Given the description of an element on the screen output the (x, y) to click on. 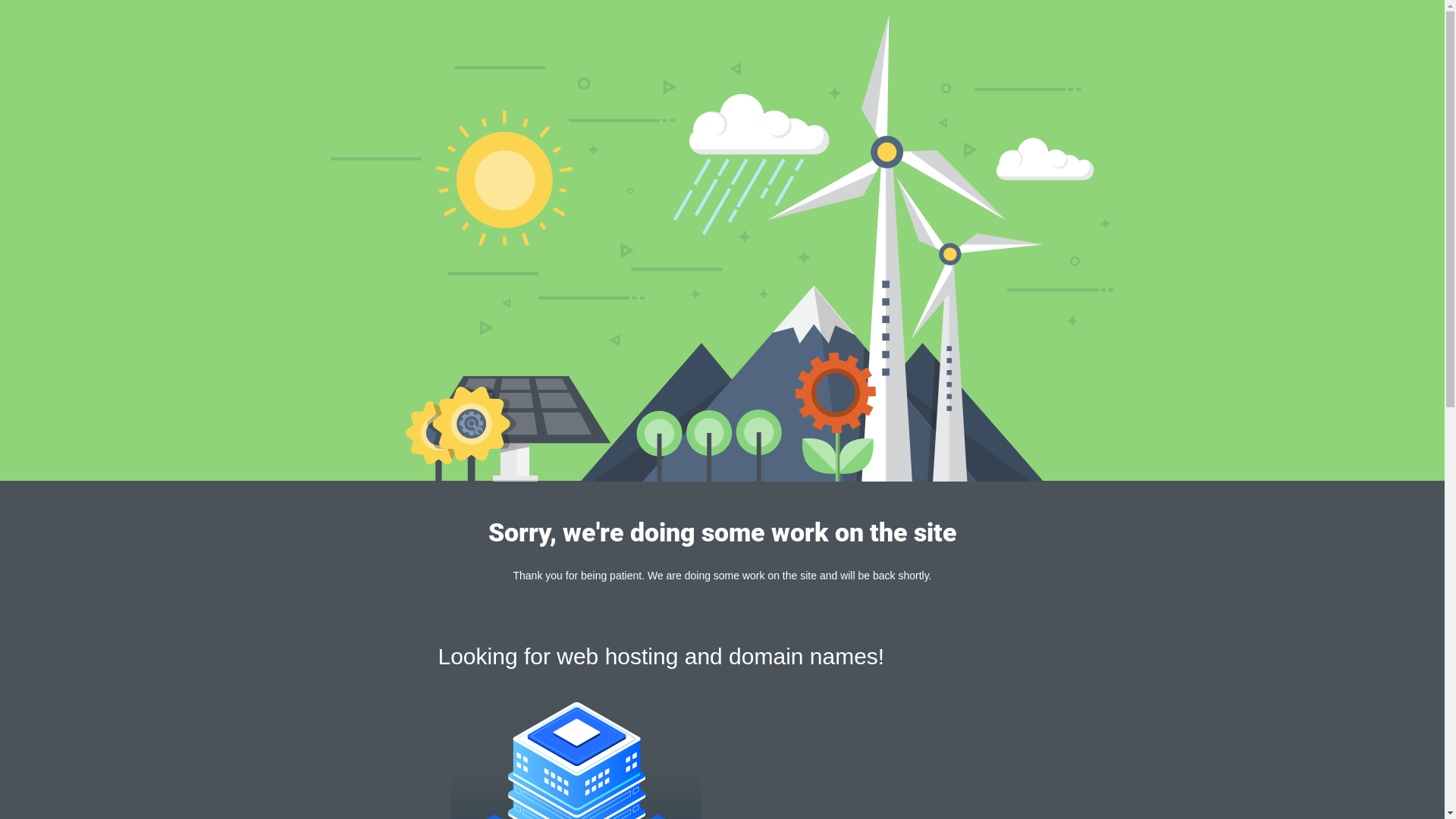
Windmill Element type: hover (721, 248)
